Given the description of an element on the screen output the (x, y) to click on. 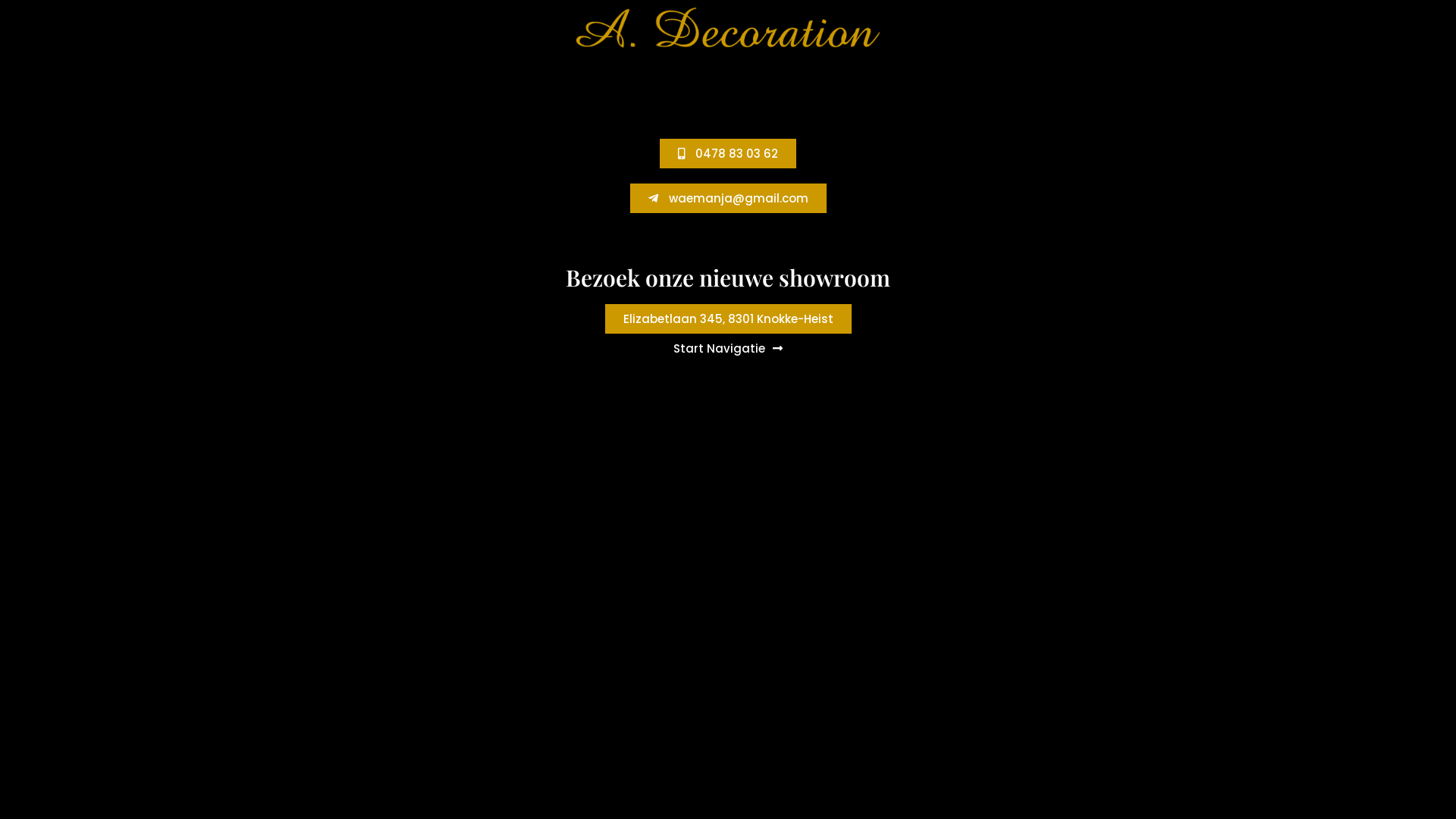
Start Navigatie Element type: text (727, 348)
waemanja@gmail.com Element type: text (727, 198)
Elizabetlaan 345, 8301 Knokke-Heist Element type: text (728, 318)
0478 83 03 62 Element type: text (727, 153)
